Given the description of an element on the screen output the (x, y) to click on. 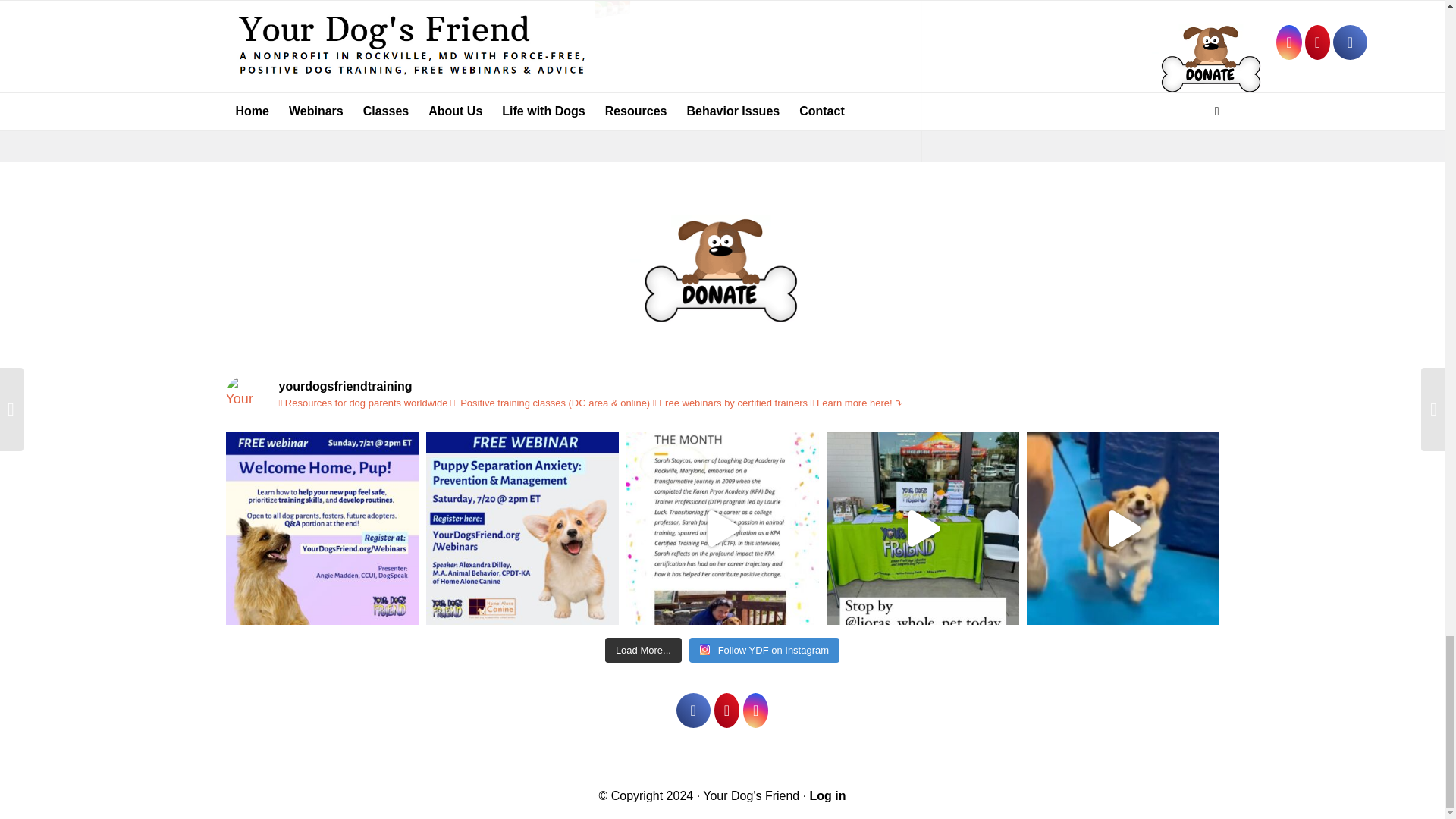
Gift Ideas for Dog Lovers: Fun Dog Puzzles (265, 22)
Gifts for Dog Lovers: GPS Tracking for Lost Dogs (347, 38)
